Given the description of an element on the screen output the (x, y) to click on. 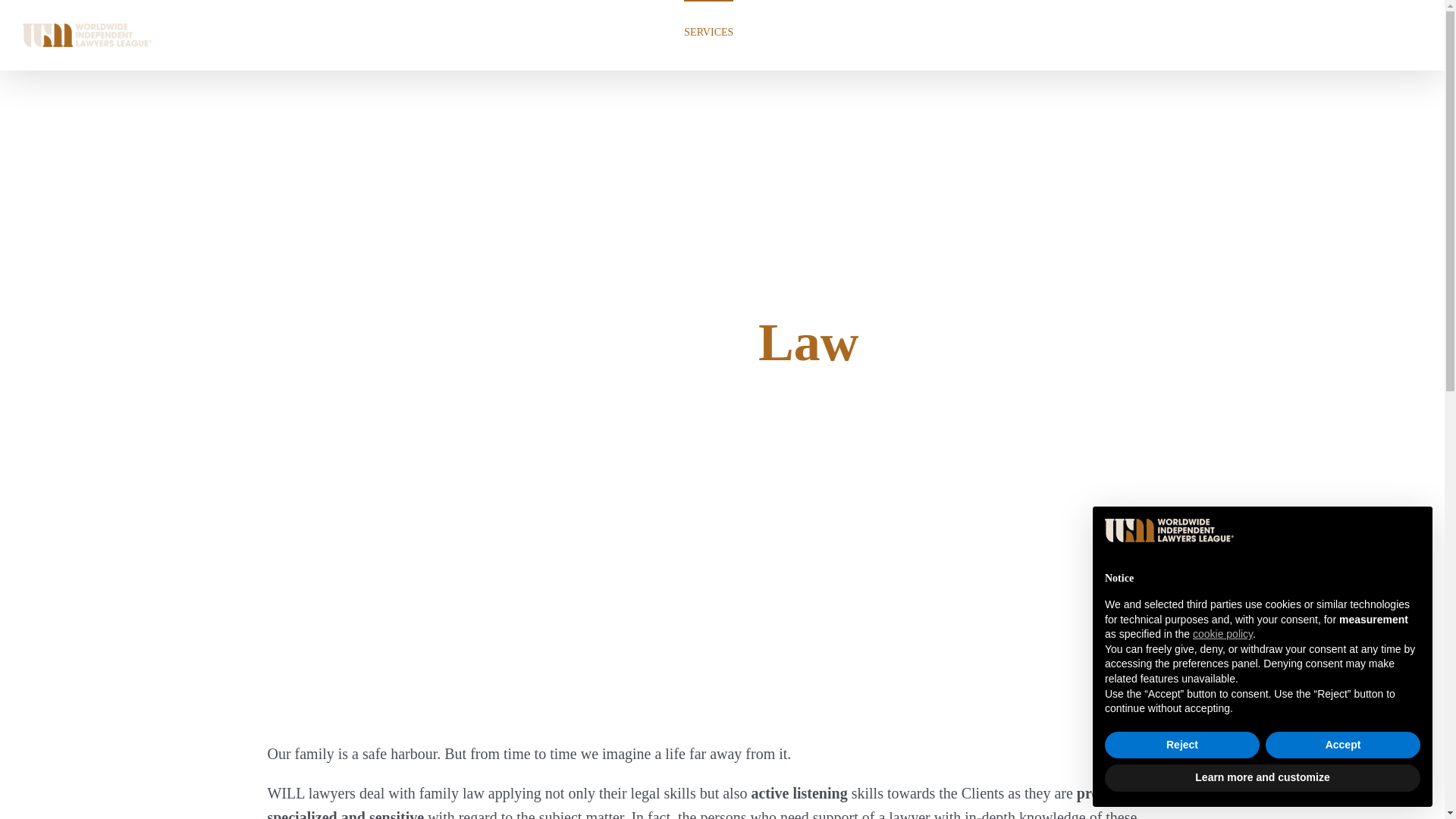
AFFILIATES (1059, 31)
WILL EMBRACE (792, 31)
ABOUT YOU (634, 31)
NATIONAL PAGES (967, 31)
